Given the description of an element on the screen output the (x, y) to click on. 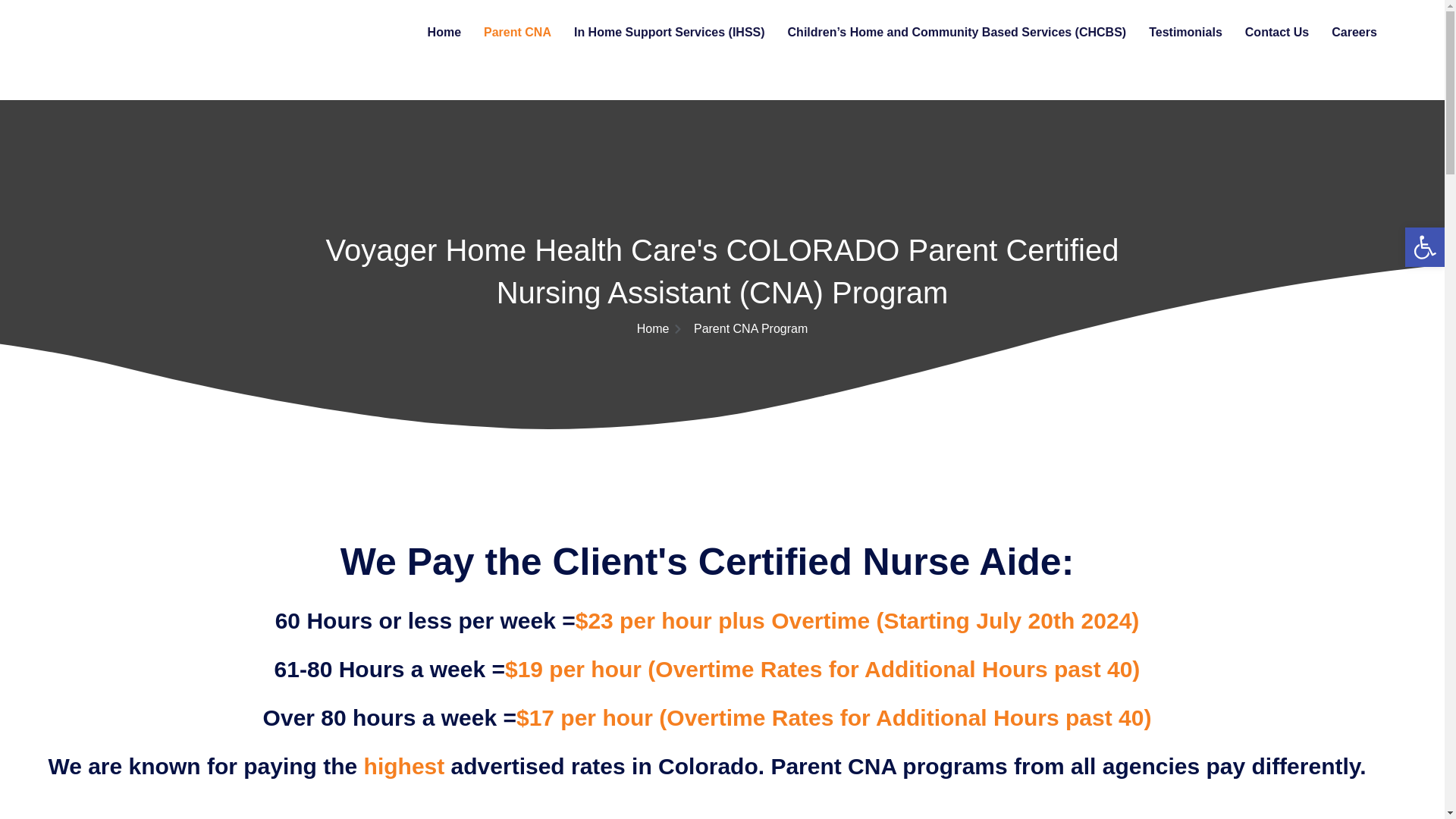
Contact Us (1276, 32)
Testimonials (1185, 32)
Parent CNA (516, 32)
Home (443, 32)
Careers (1354, 32)
